Given the description of an element on the screen output the (x, y) to click on. 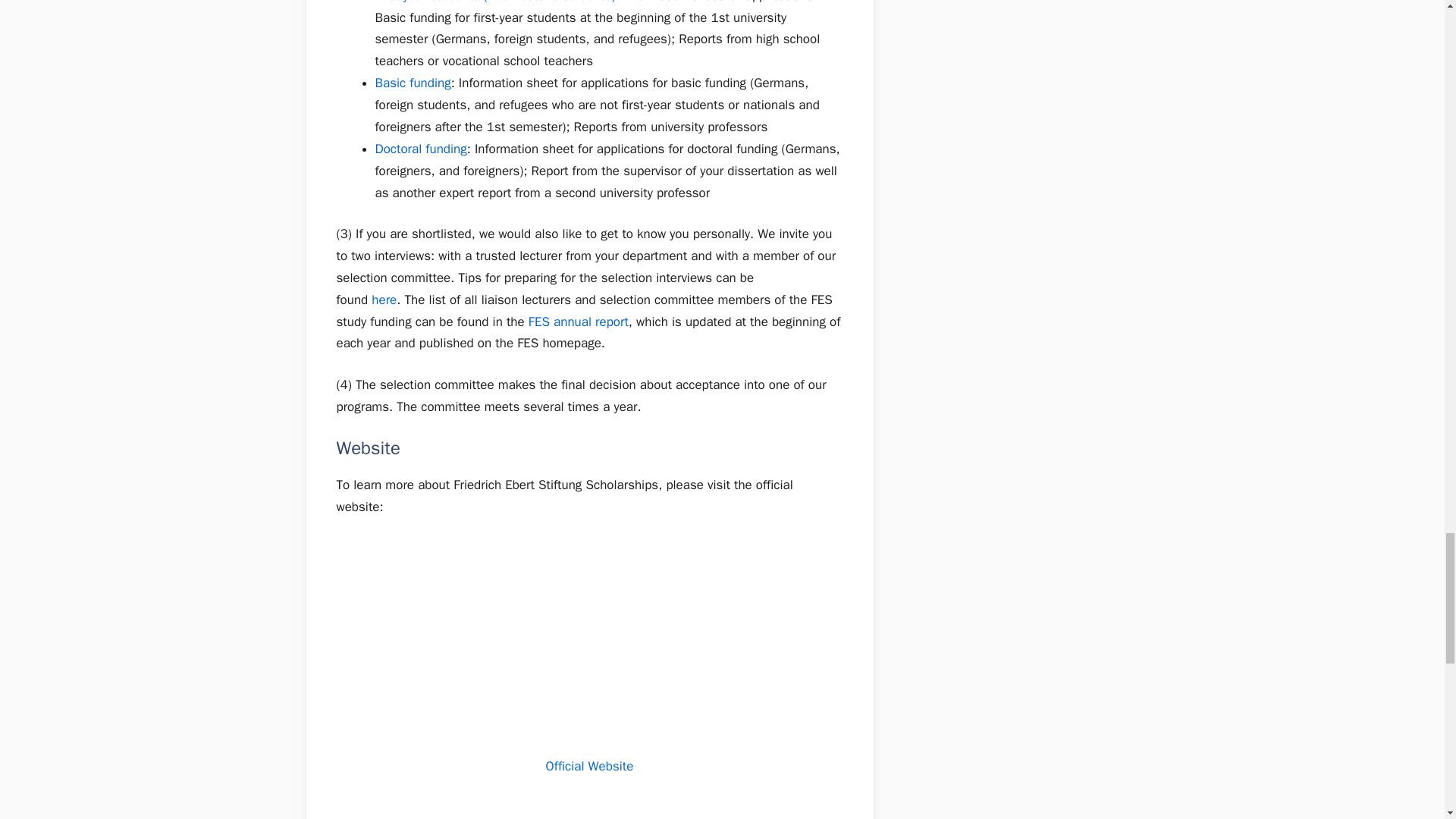
Official Website (589, 765)
Doctoral funding (419, 148)
Basic funding (411, 82)
FES annual report (578, 321)
here (383, 299)
